Given the description of an element on the screen output the (x, y) to click on. 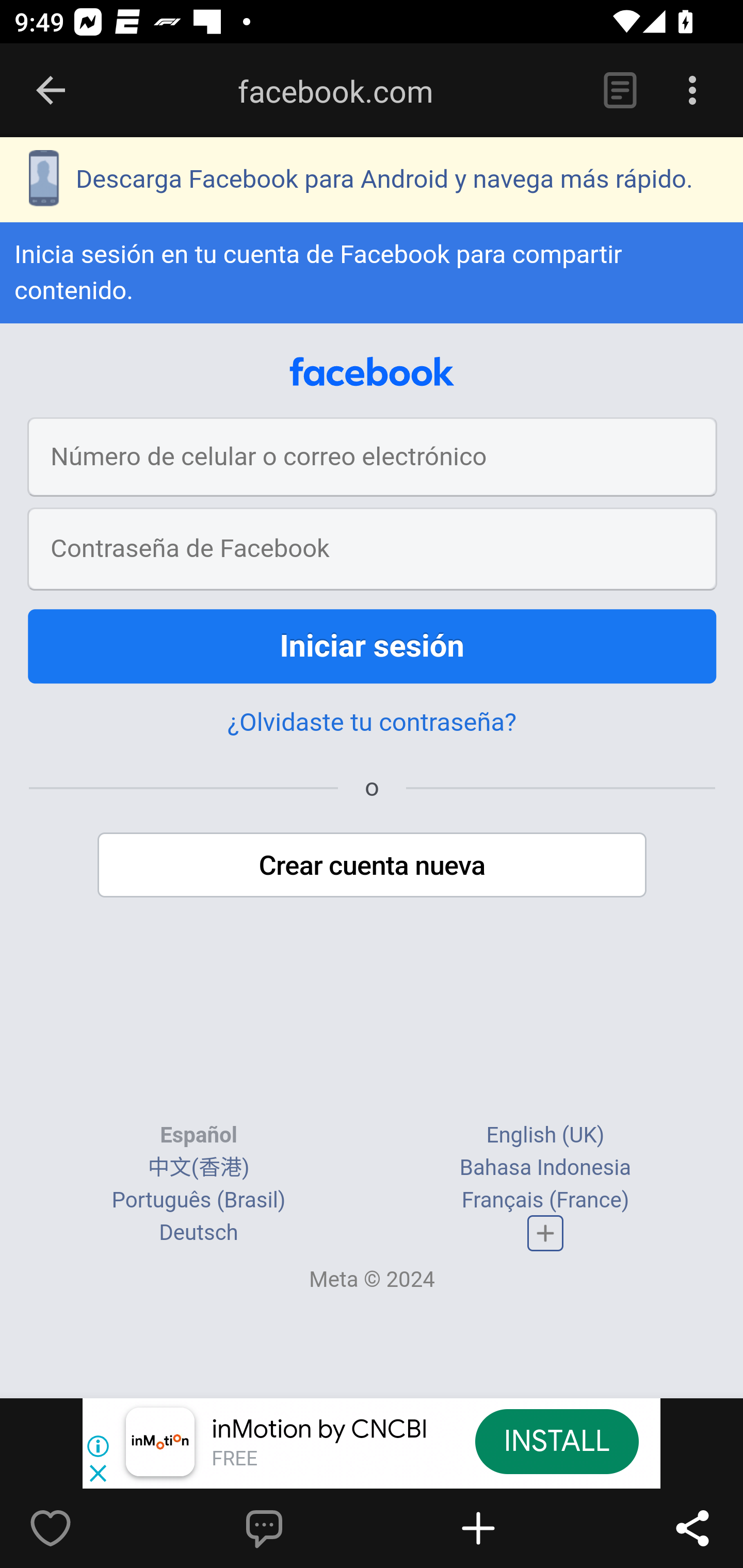
Back (50, 90)
Reader View (619, 90)
Options (692, 90)
facebook (372, 372)
Iniciar sesión (372, 647)
¿Olvidaste tu contraseña? (371, 723)
Crear cuenta nueva (372, 866)
English (UK) (544, 1135)
中文(香港) (198, 1168)
Bahasa Indonesia (545, 1168)
Português (Brasil) (197, 1201)
Français (France) (544, 1201)
Lista completa de idiomas (545, 1233)
Deutsch (198, 1232)
INSTALL (556, 1441)
inMotion by CNCBI (319, 1429)
FREE (234, 1459)
Like (93, 1528)
Write a comment… (307, 1528)
Flip into Magazine (521, 1528)
Share (692, 1528)
